Given the description of an element on the screen output the (x, y) to click on. 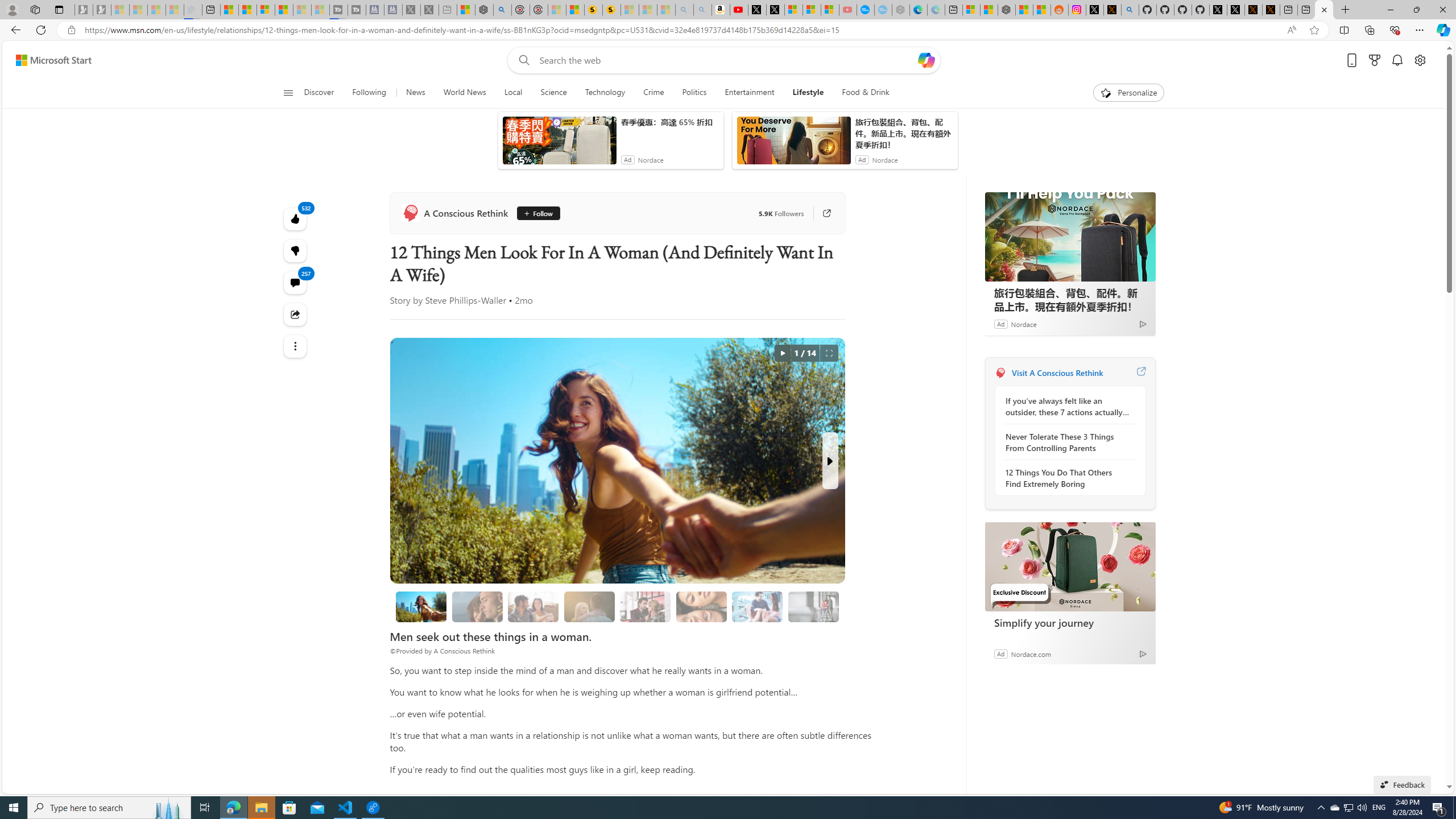
Check more alert details (1077, 311)
Top stories (325, 359)
Gaming (537, 151)
tab-2 (1019, 509)
Wikipedia (578, 126)
Microsoft start (81, 78)
AutomationID: tab-20 (465, 328)
Edit Background (1430, 737)
